Given the description of an element on the screen output the (x, y) to click on. 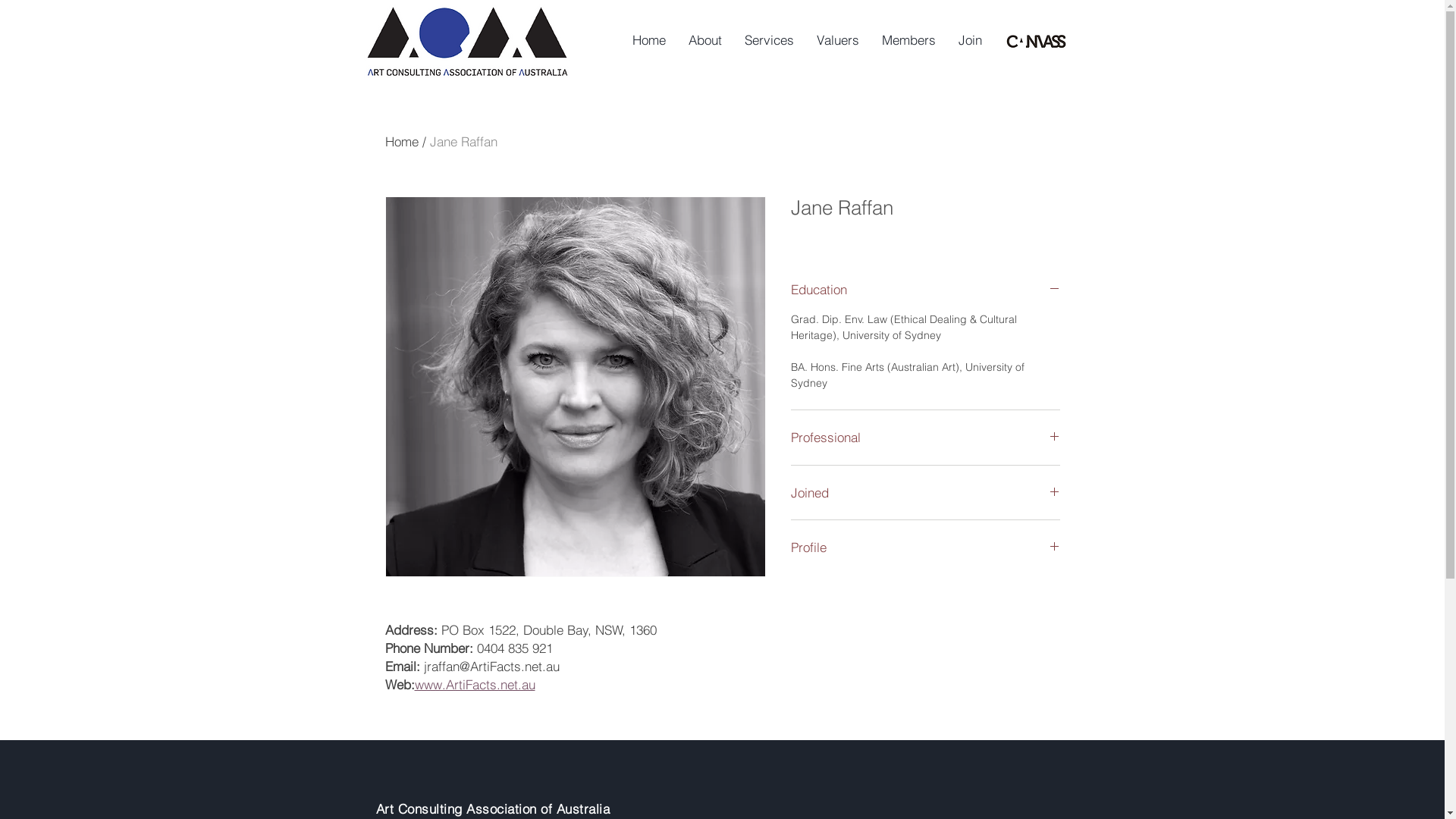
Professional Element type: text (924, 437)
Joined Element type: text (924, 492)
Jane Raffan Element type: text (462, 141)
Home Element type: text (401, 141)
Members Element type: text (908, 40)
Education Element type: text (924, 289)
www.ArtiFacts.net.au Element type: text (474, 684)
Services Element type: text (768, 40)
About Element type: text (704, 40)
Join Element type: text (969, 40)
Profile Element type: text (924, 547)
Valuers Element type: text (837, 40)
Home Element type: text (648, 40)
Art Consulting Association of Australia Element type: text (493, 808)
